Given the description of an element on the screen output the (x, y) to click on. 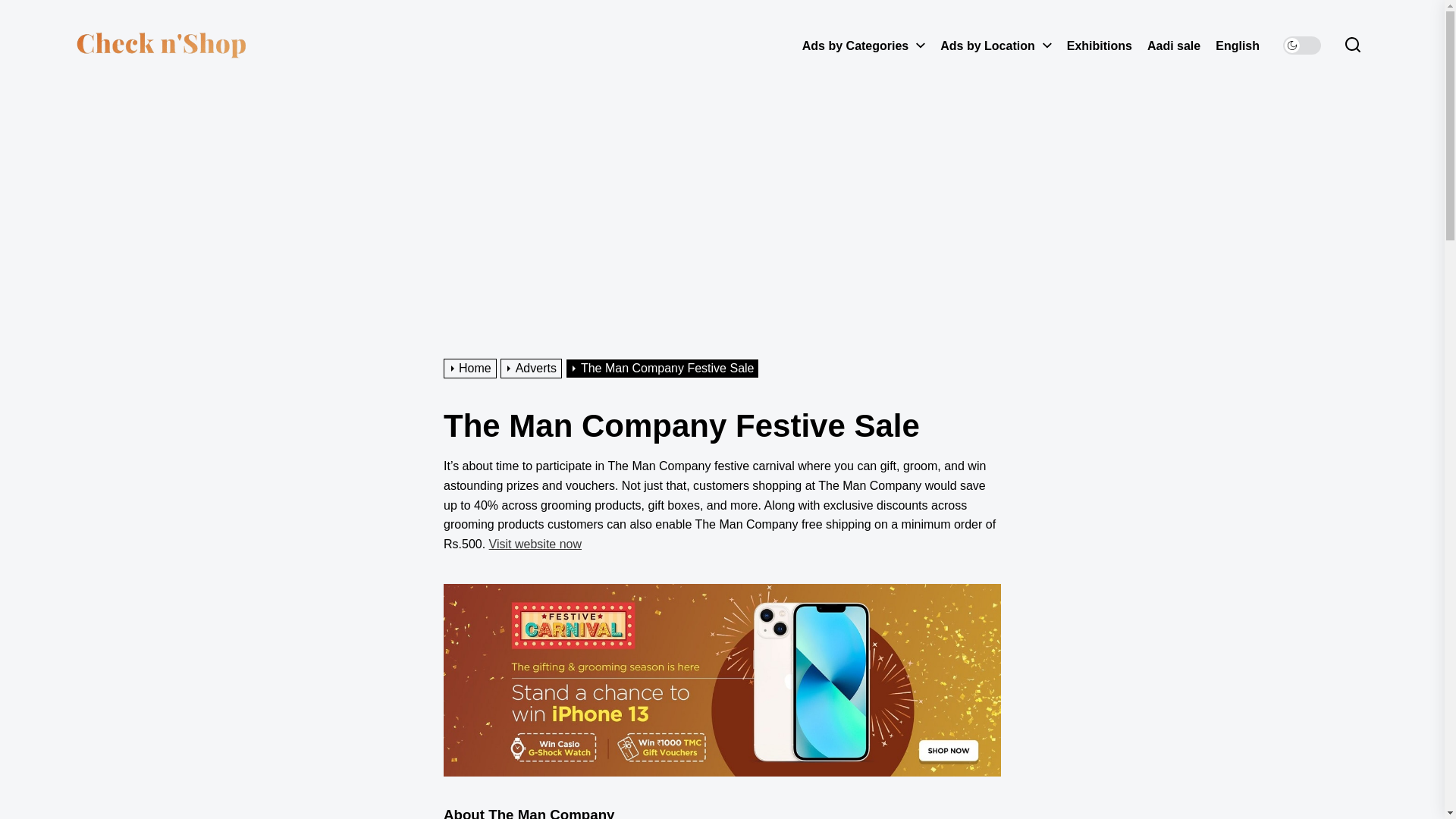
Ads by Location (991, 45)
Home (472, 367)
Aadi sale (1173, 45)
Exhibitions (1099, 45)
English (1240, 45)
Ads by Categories (858, 45)
